Given the description of an element on the screen output the (x, y) to click on. 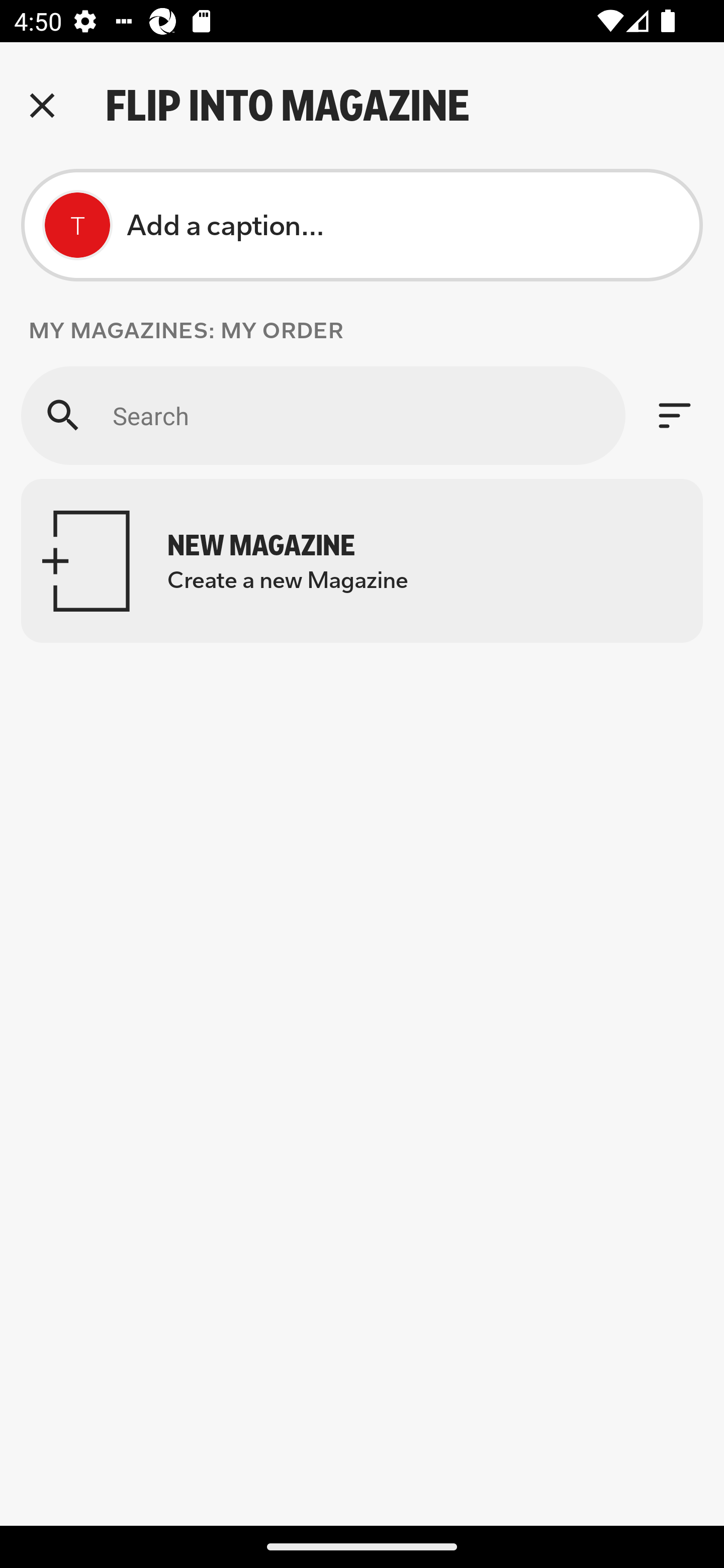
Test Appium Add a caption… (361, 224)
Search (322, 415)
NEW MAGAZINE Create a new Magazine (361, 560)
